Given the description of an element on the screen output the (x, y) to click on. 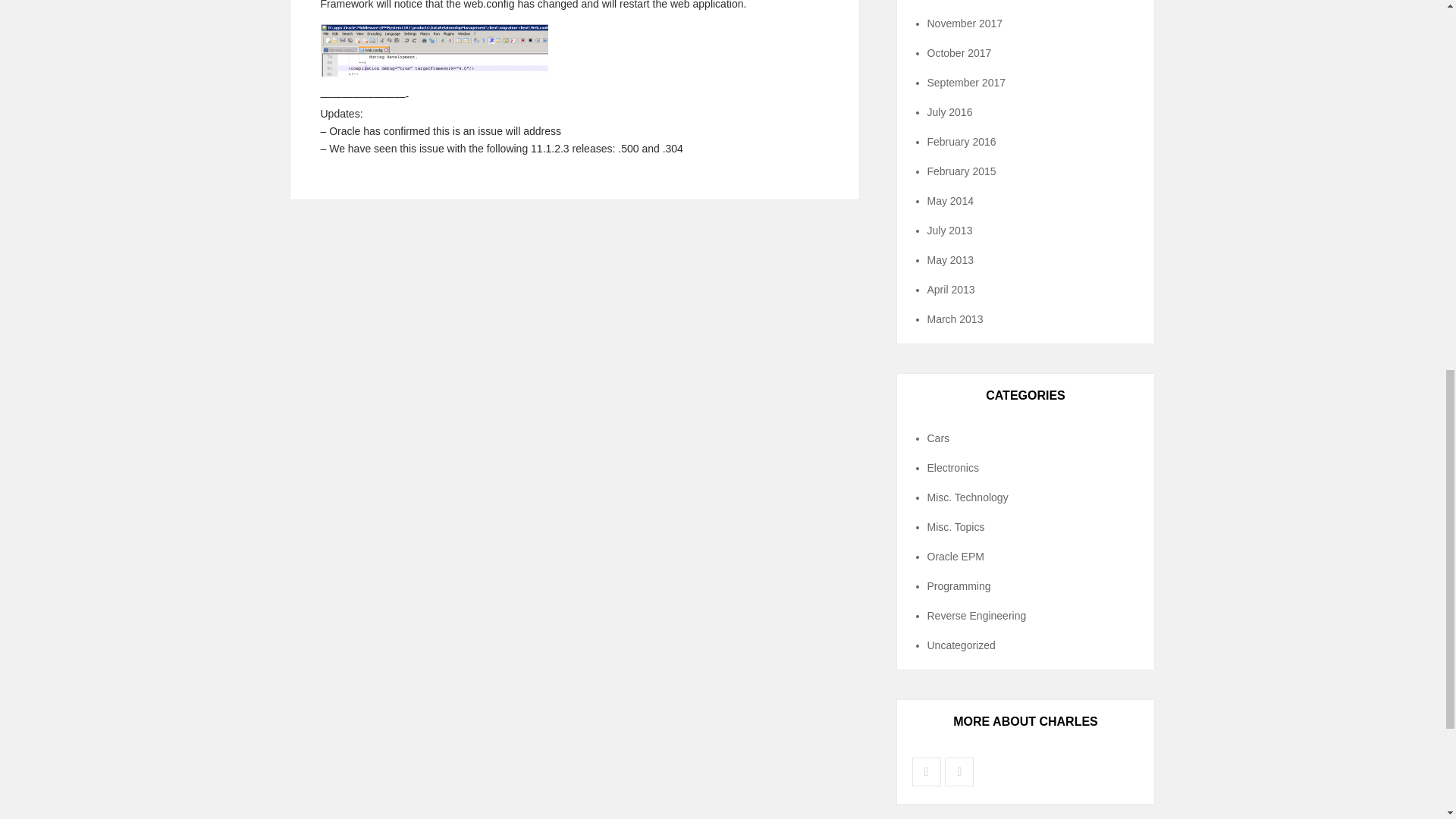
September 2017 (966, 82)
October 2017 (958, 52)
July 2016 (949, 111)
Technology information pertaining to Oracle's EPM platform (955, 556)
November 2017 (964, 23)
